Given the description of an element on the screen output the (x, y) to click on. 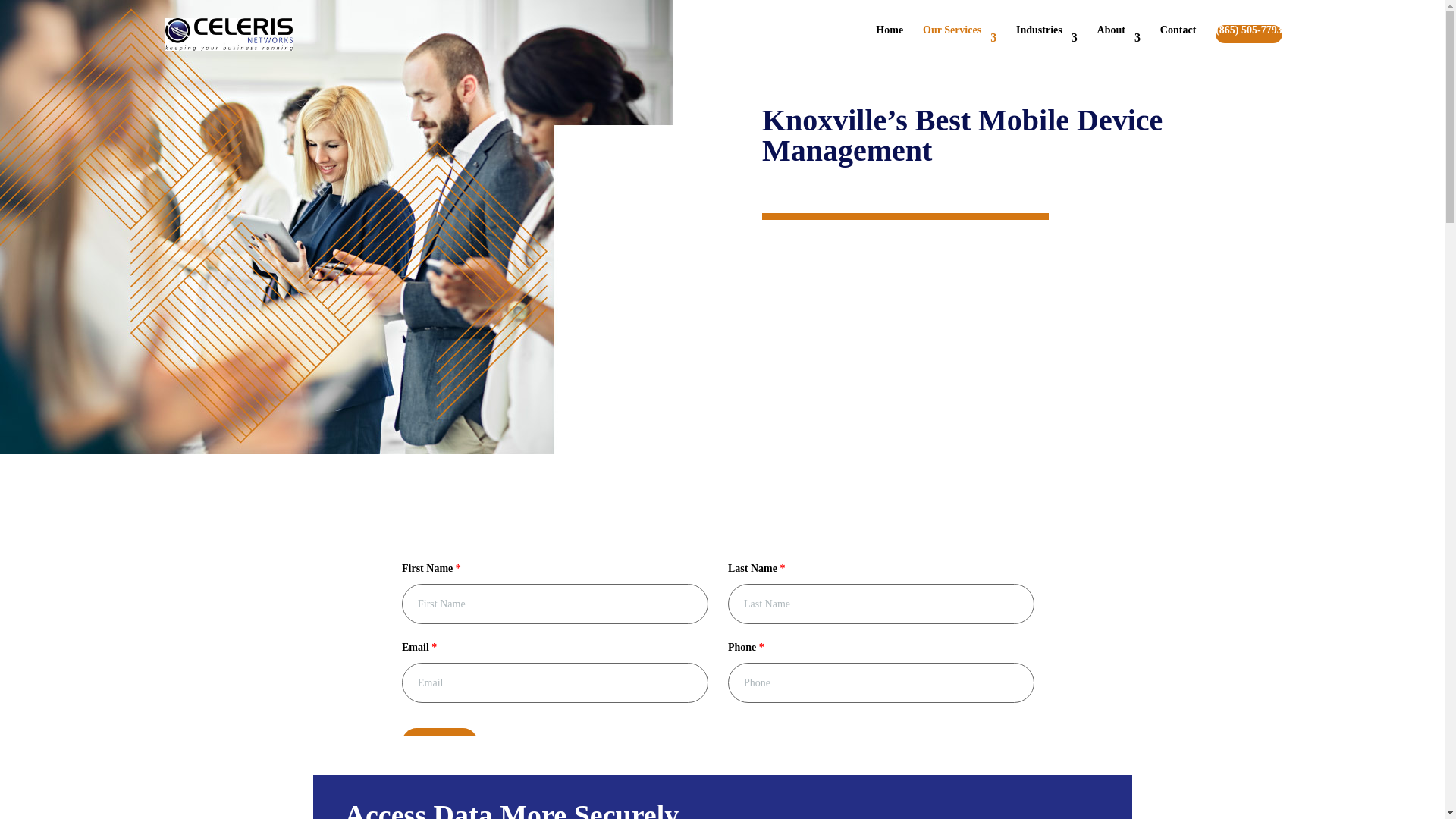
About (1118, 42)
Industries (1046, 42)
Contact (1177, 42)
Our Services (959, 42)
